Given the description of an element on the screen output the (x, y) to click on. 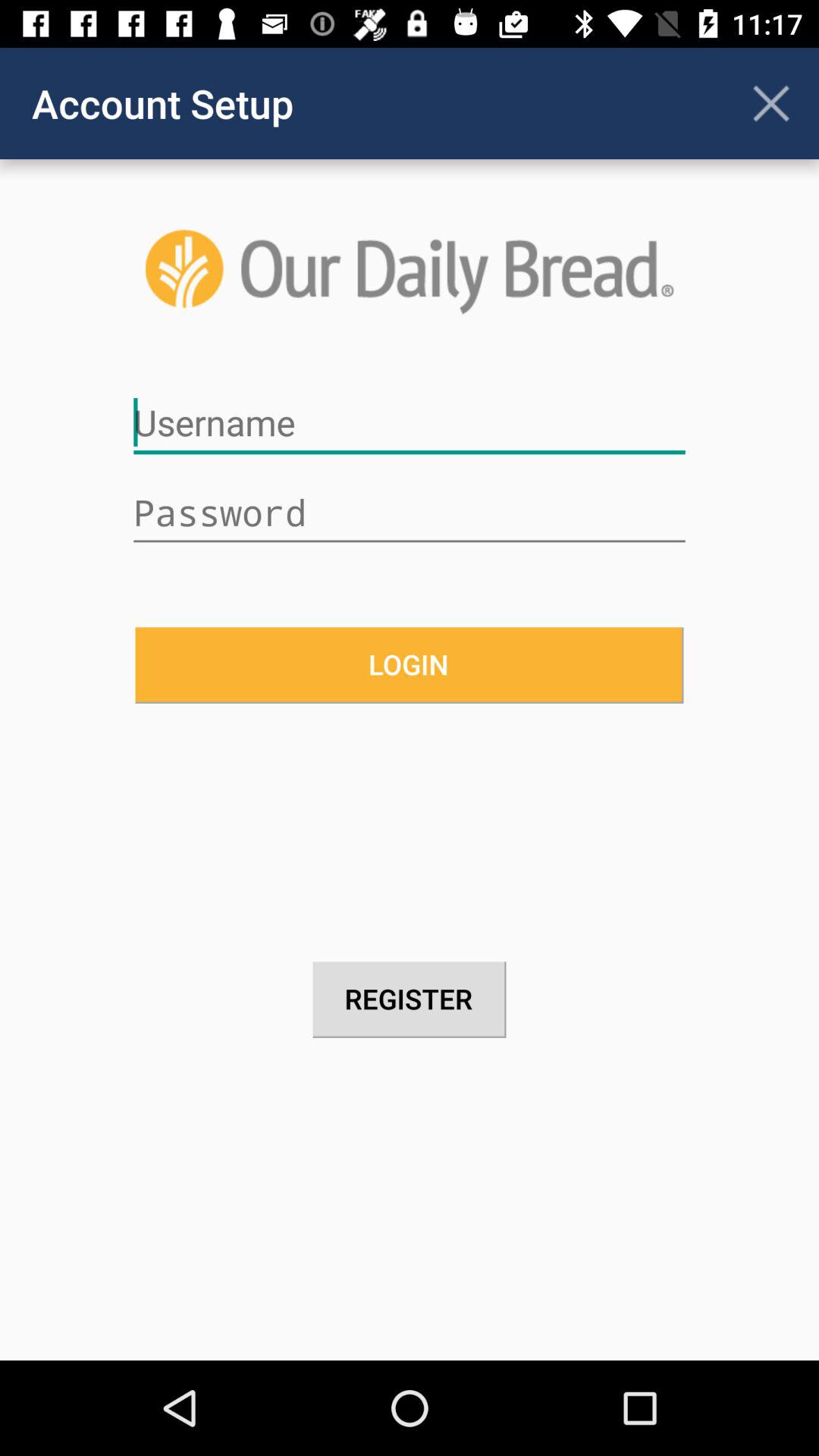
turn on icon below login item (409, 999)
